Given the description of an element on the screen output the (x, y) to click on. 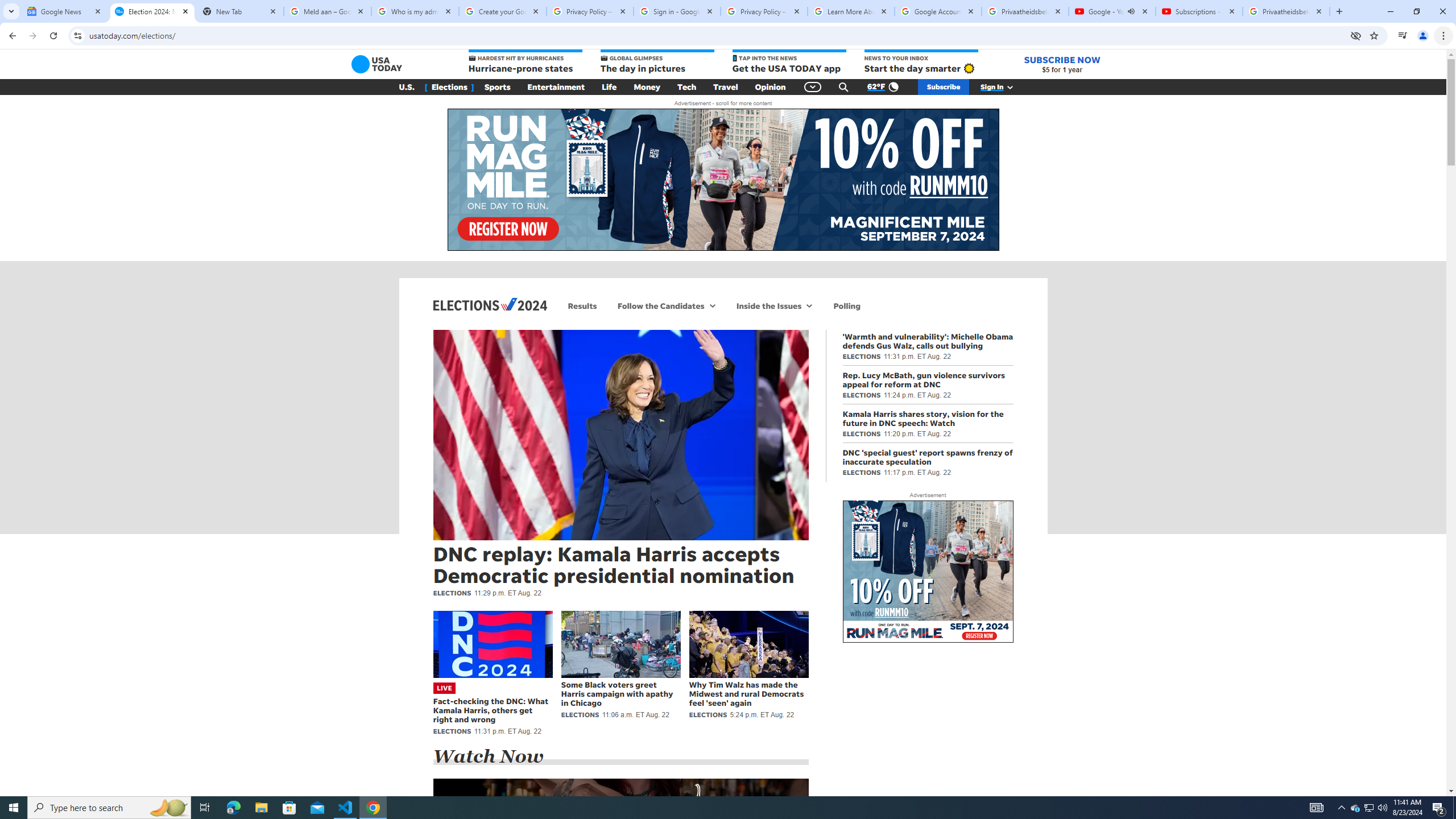
Google News (64, 11)
More Inside the Issues navigation (809, 305)
Sign In (1002, 87)
